Given the description of an element on the screen output the (x, y) to click on. 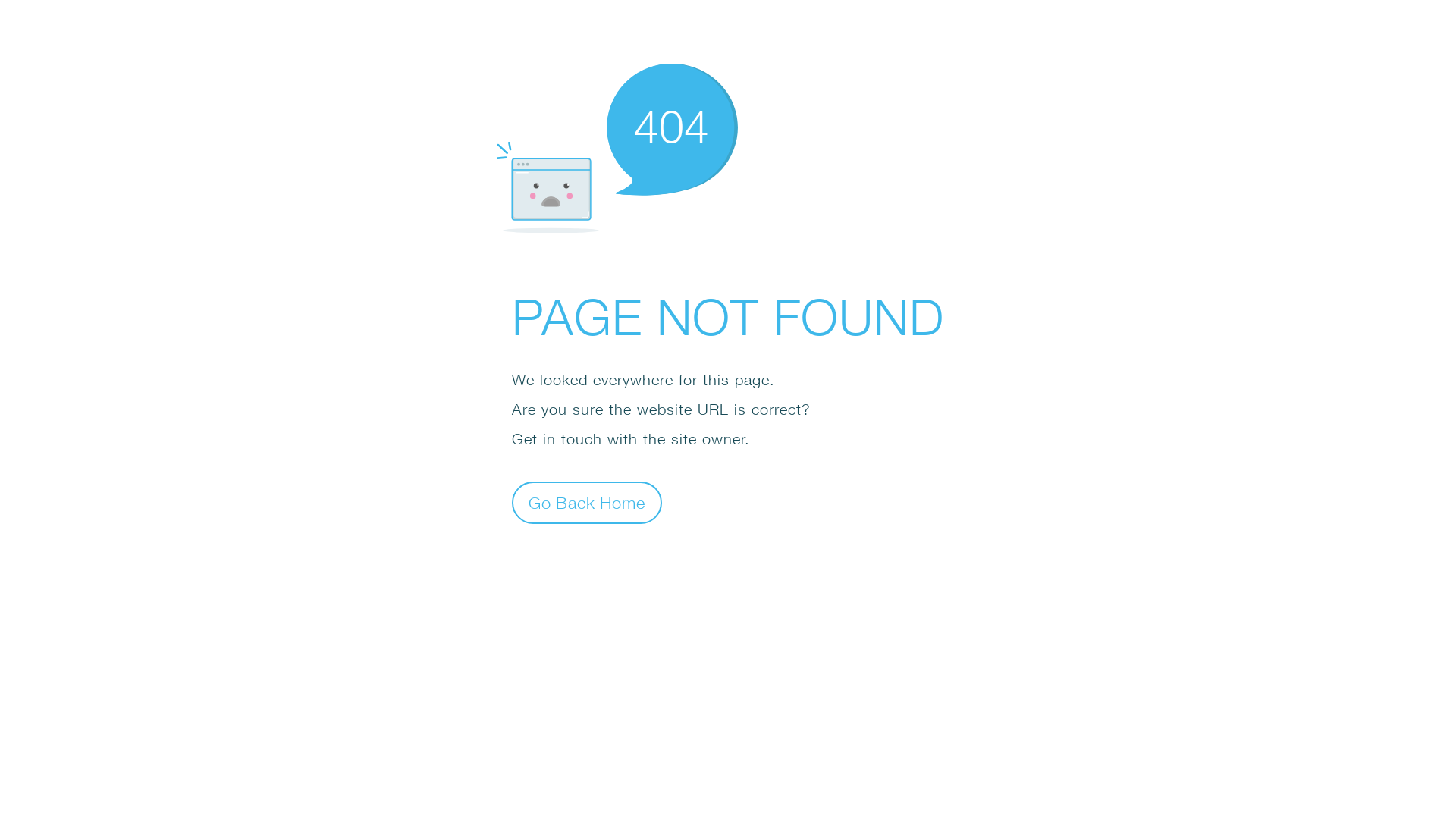
Go Back Home Element type: text (586, 502)
